Given the description of an element on the screen output the (x, y) to click on. 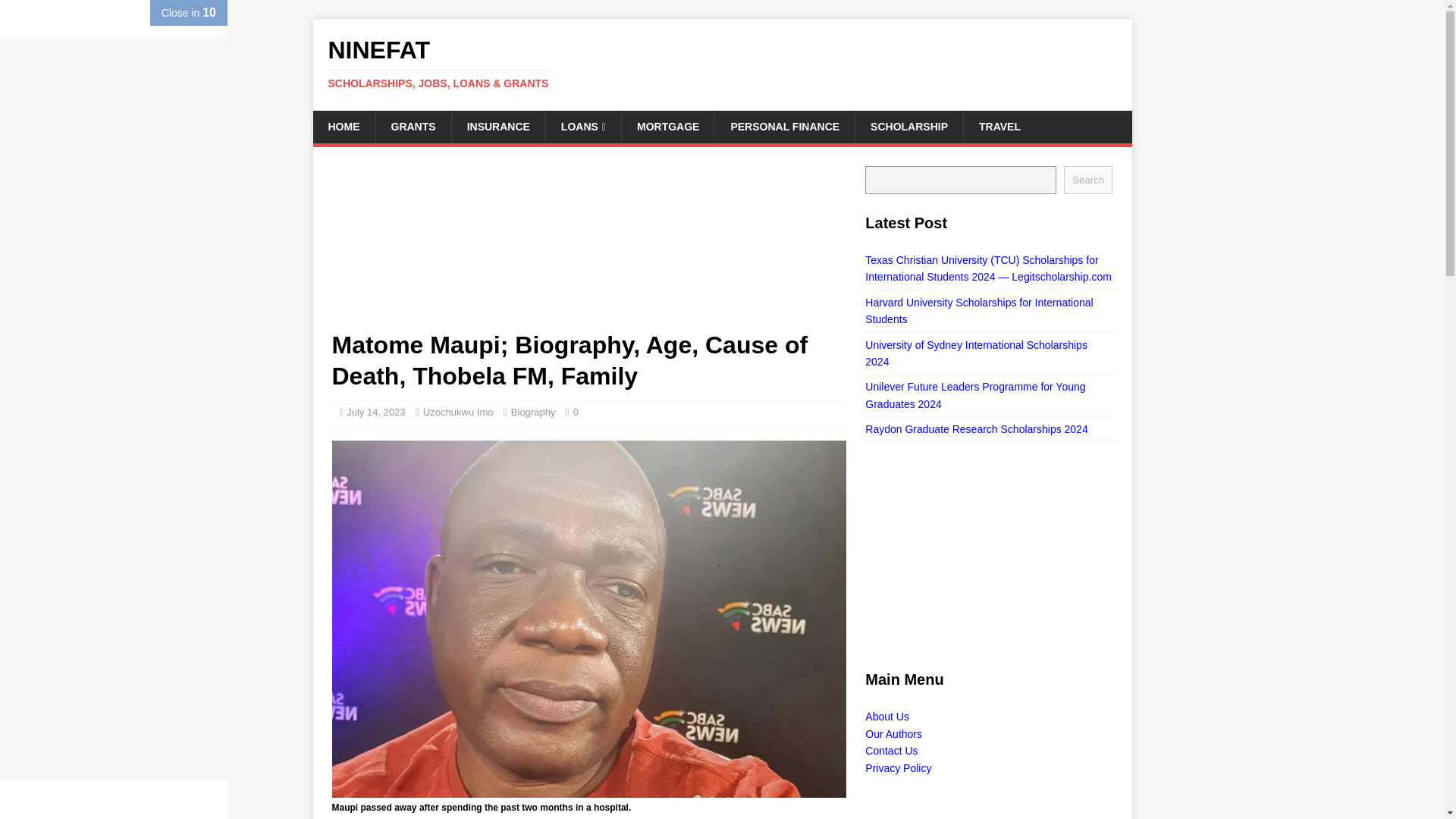
July 14, 2023 (375, 411)
TRAVEL (998, 126)
Biography (533, 411)
HOME (343, 126)
Uzochukwu Imo (458, 411)
PERSONAL FINANCE (784, 126)
SCHOLARSHIP (908, 126)
MORTGAGE (667, 126)
LOANS (582, 126)
NineFat (721, 63)
GRANTS (411, 126)
INSURANCE (497, 126)
